Given the description of an element on the screen output the (x, y) to click on. 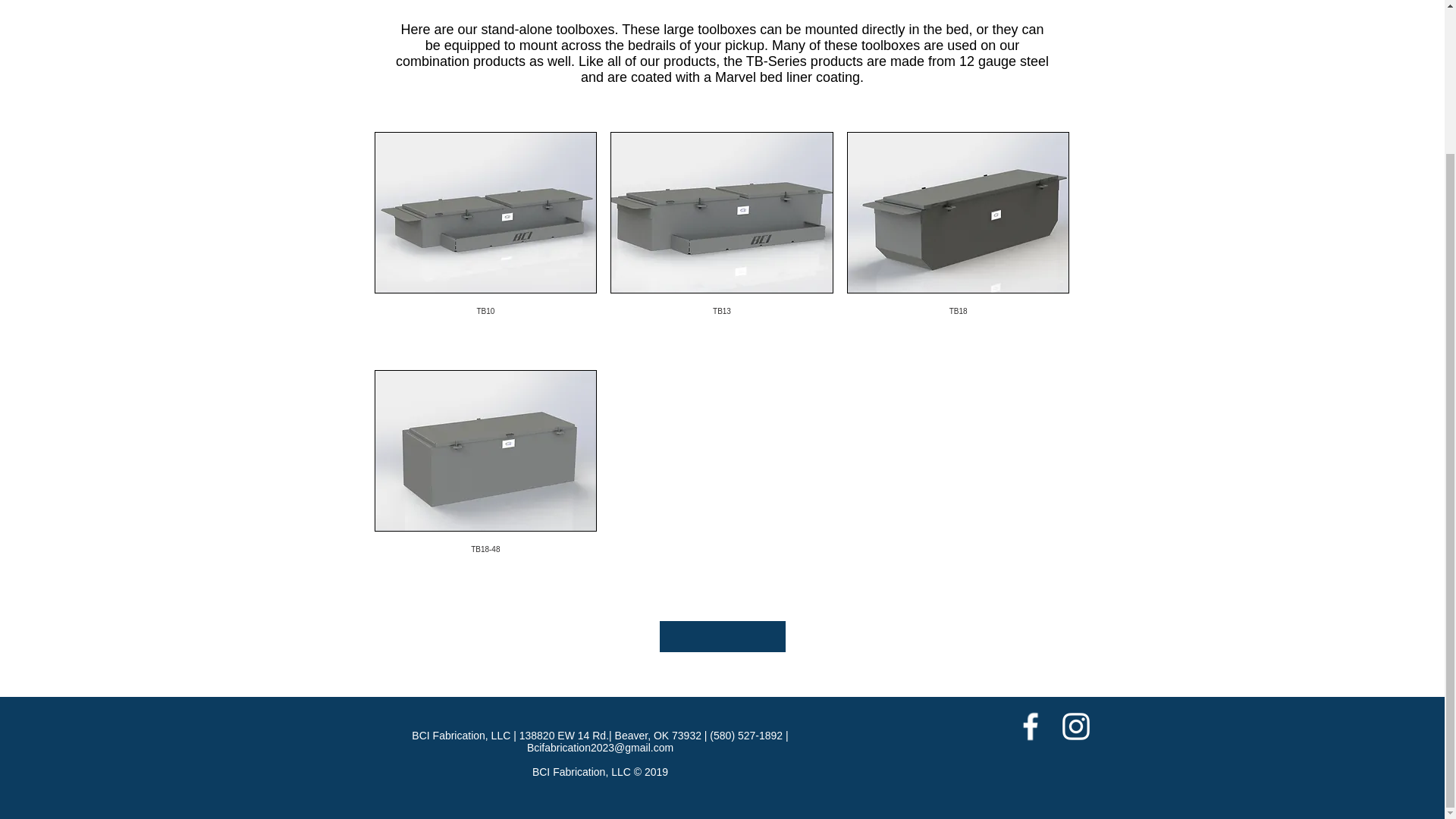
TB18 (958, 243)
TB10 (485, 243)
TB13 (721, 243)
TB18-48 (485, 482)
